Given the description of an element on the screen output the (x, y) to click on. 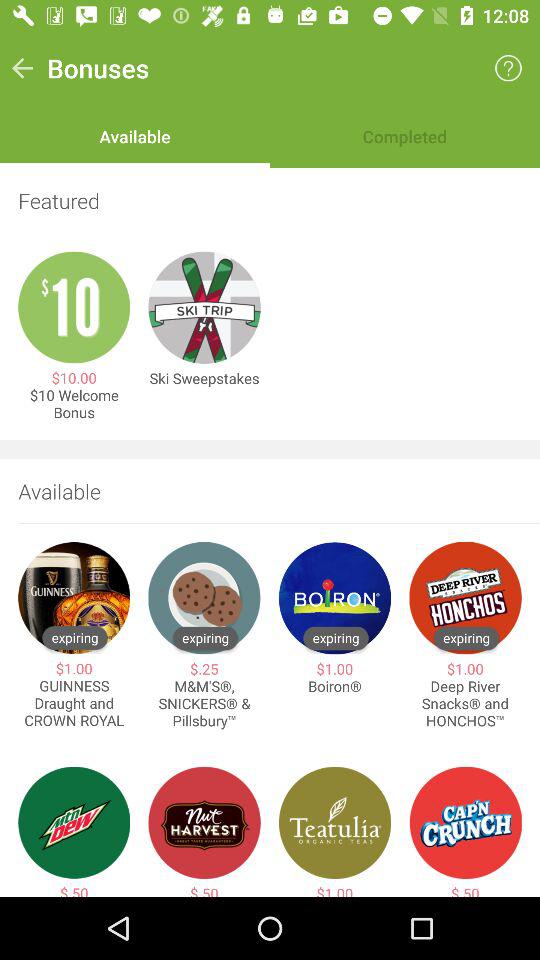
launch item next to the bonuses (508, 67)
